Given the description of an element on the screen output the (x, y) to click on. 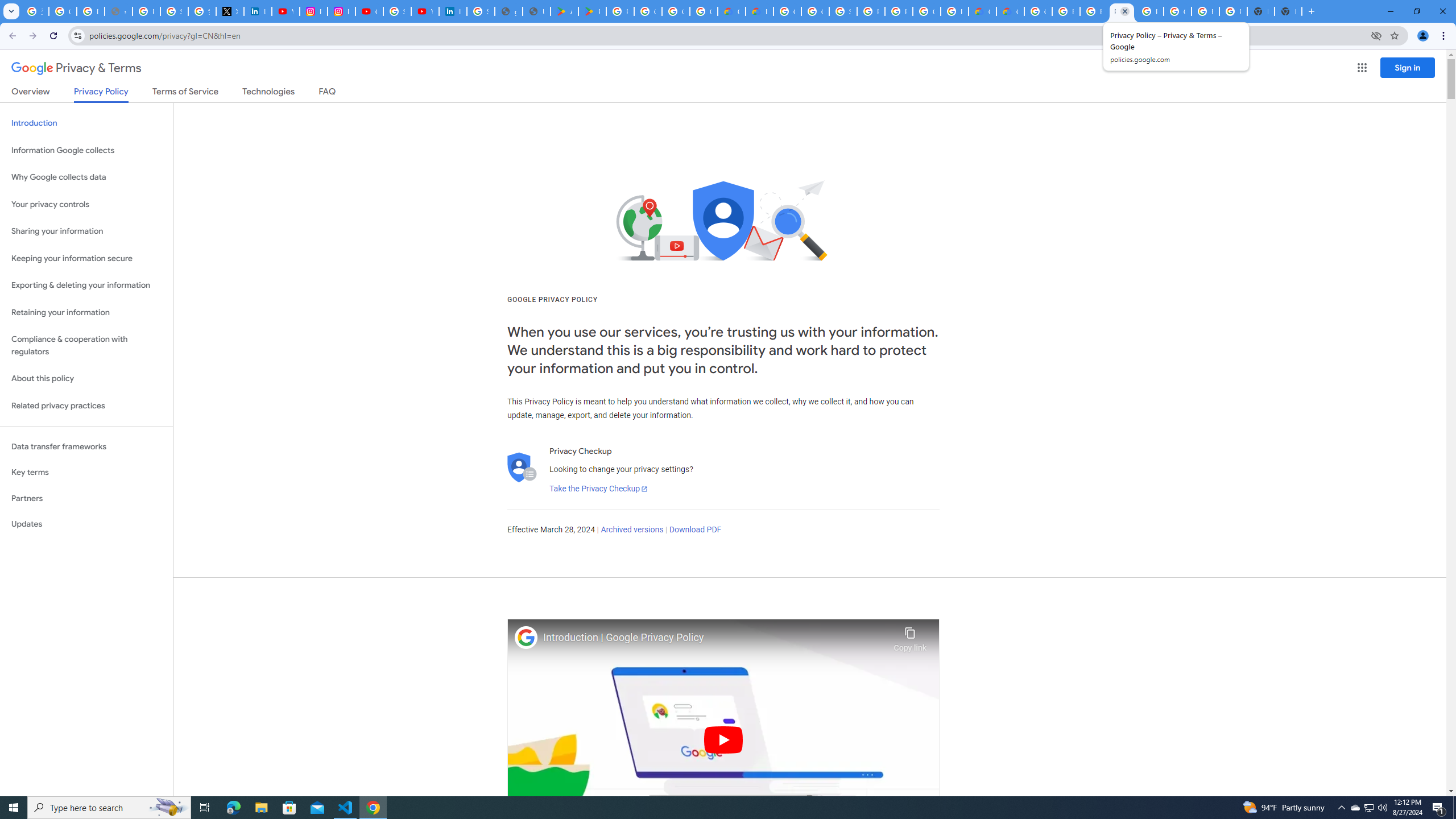
Google Workspace - Specific Terms (703, 11)
Exporting & deleting your information (86, 284)
Retaining your information (86, 312)
Why Google collects data (86, 176)
Play (723, 739)
Google Cloud Platform (1177, 11)
